Given the description of an element on the screen output the (x, y) to click on. 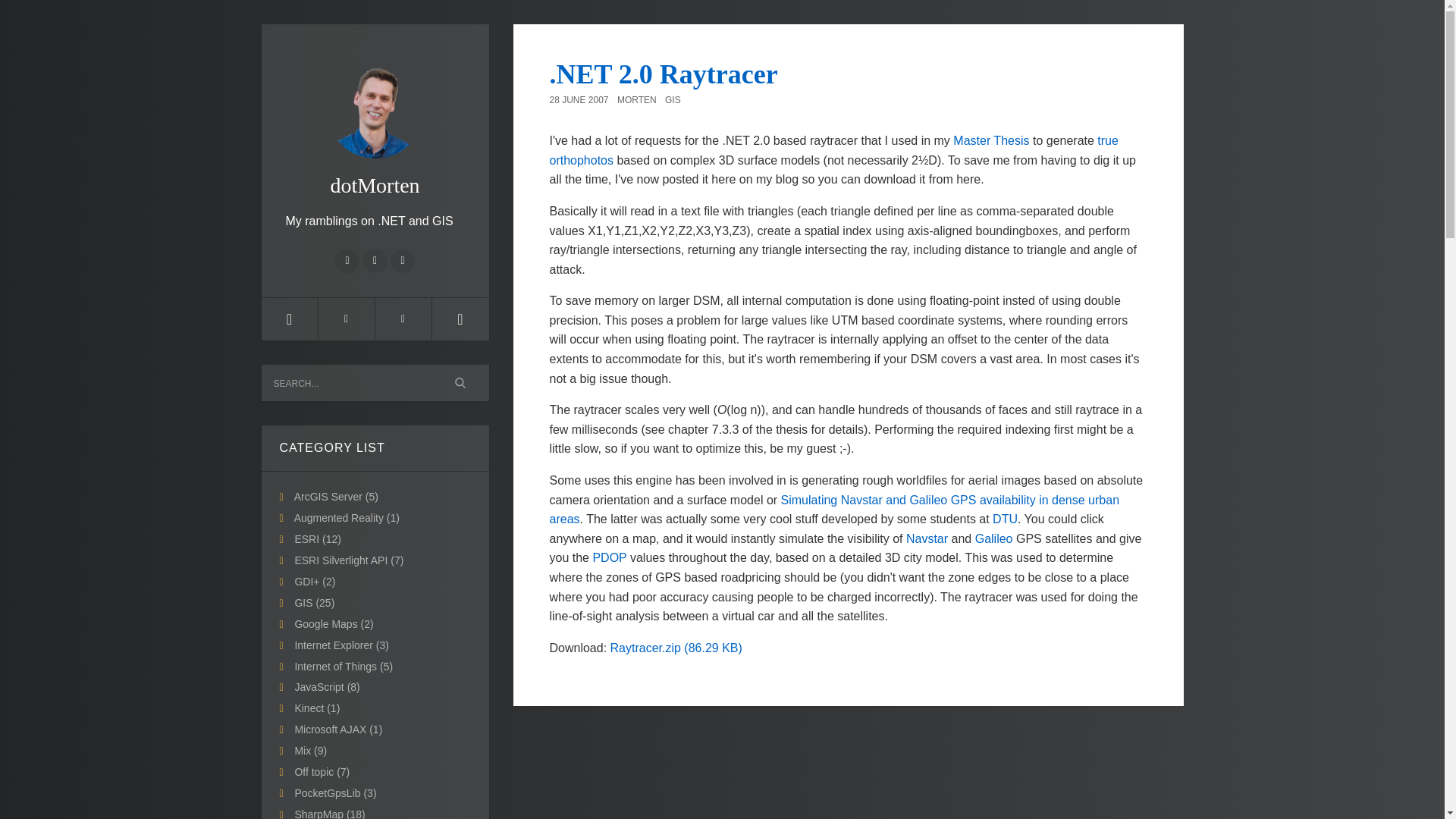
Search (460, 382)
Category: GIS (314, 603)
dotMorten (373, 118)
Category: ESRI Silverlight API (348, 560)
Category: Augmented Reality (346, 517)
Category: ArcGIS Server (336, 496)
Category: ESRI (317, 539)
Category: Google Maps (333, 623)
